Given the description of an element on the screen output the (x, y) to click on. 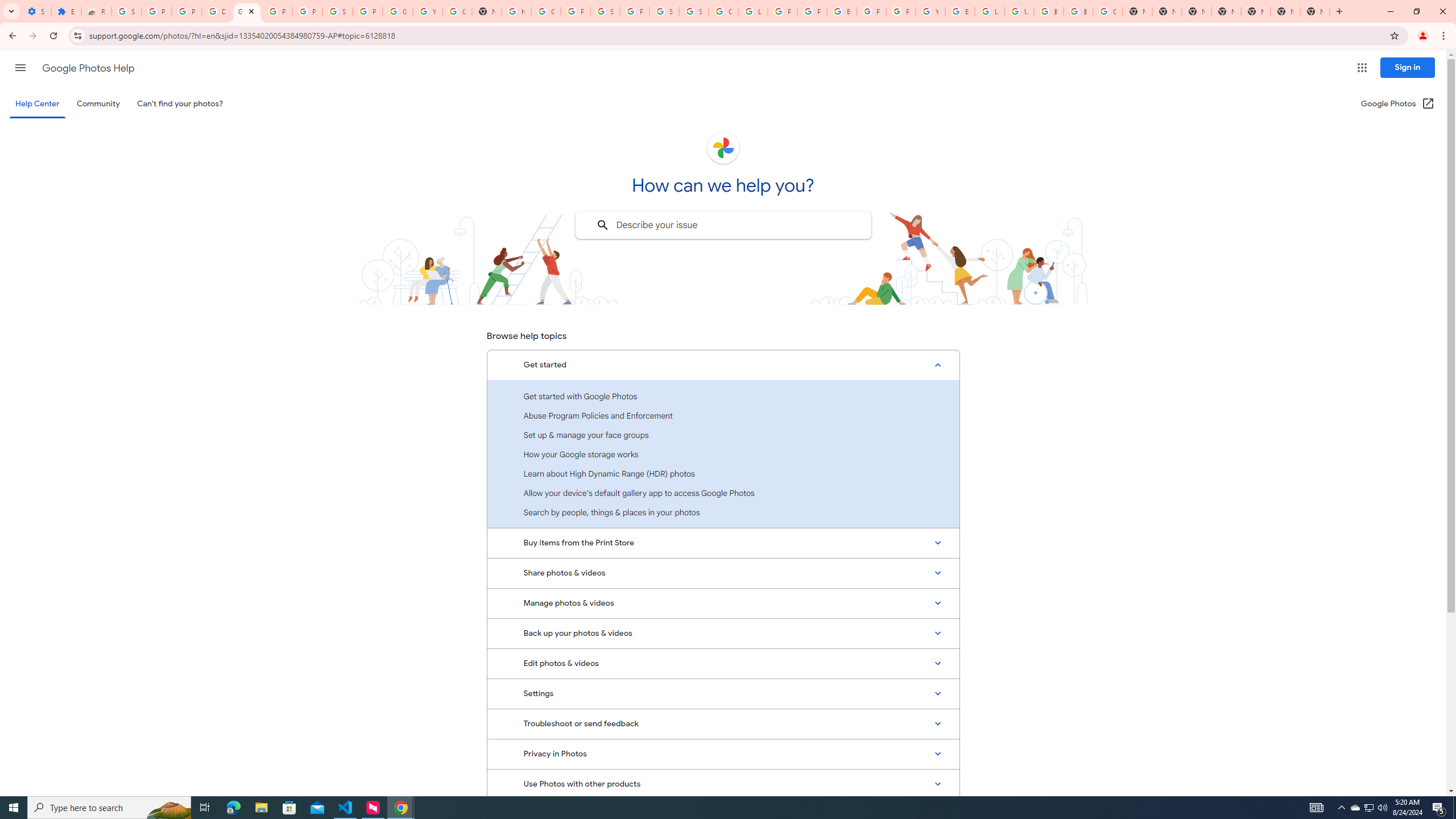
Search by people, things & places in your photos (722, 512)
https://scholar.google.com/ (515, 11)
Use Photos with other products (722, 784)
Sign in - Google Accounts (693, 11)
Describe your issue to find information that might help you. (722, 225)
New Tab (1226, 11)
YouTube (930, 11)
